Given the description of an element on the screen output the (x, y) to click on. 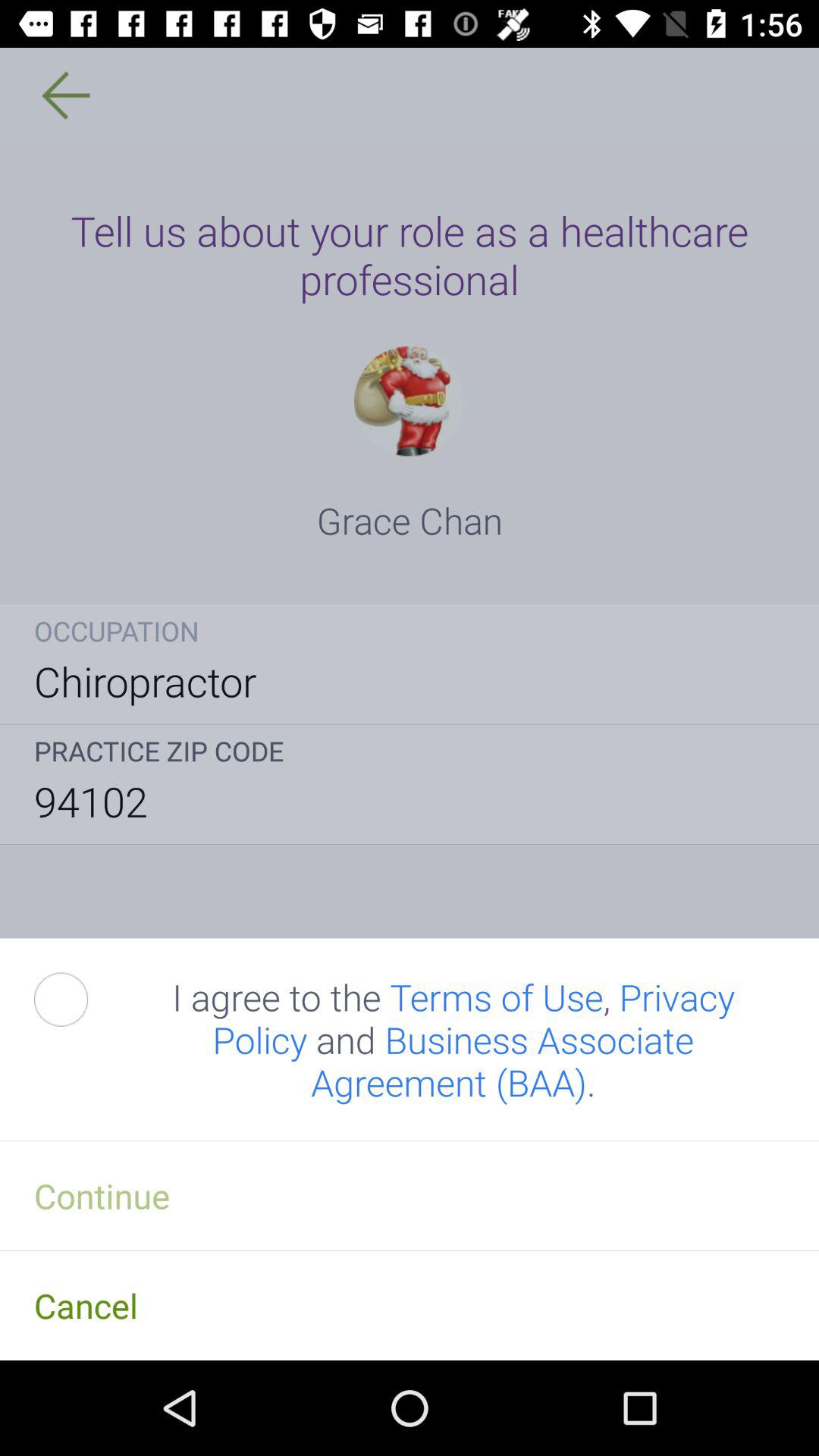
jump until i agree to icon (453, 1039)
